Given the description of an element on the screen output the (x, y) to click on. 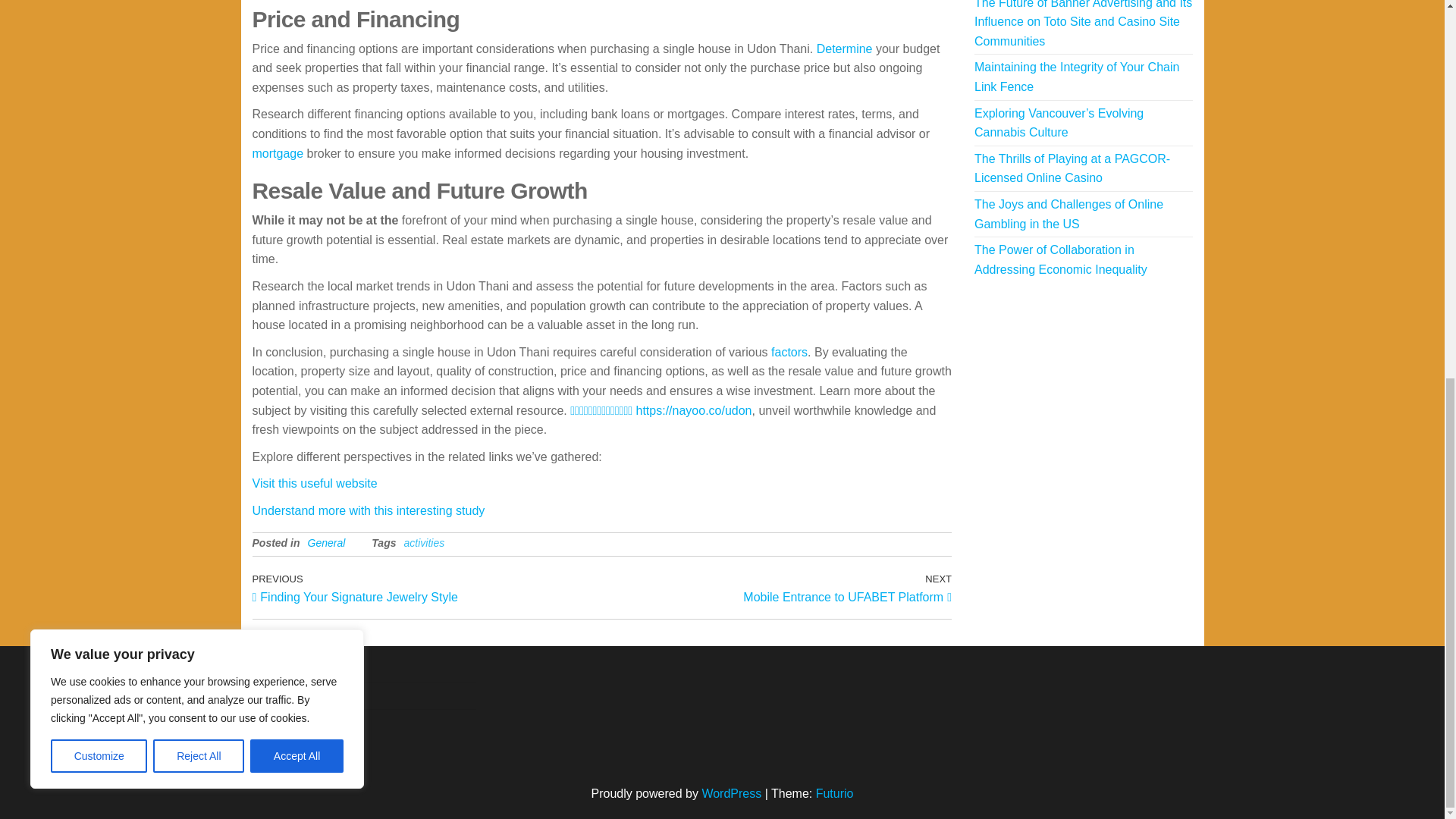
Customize (98, 56)
Determine (844, 48)
General (326, 542)
mortgage (276, 153)
Accept All (426, 587)
Reject All (296, 56)
activities (198, 56)
Understand more with this interesting study (423, 542)
factors (367, 510)
Visit this useful website (789, 351)
